Given the description of an element on the screen output the (x, y) to click on. 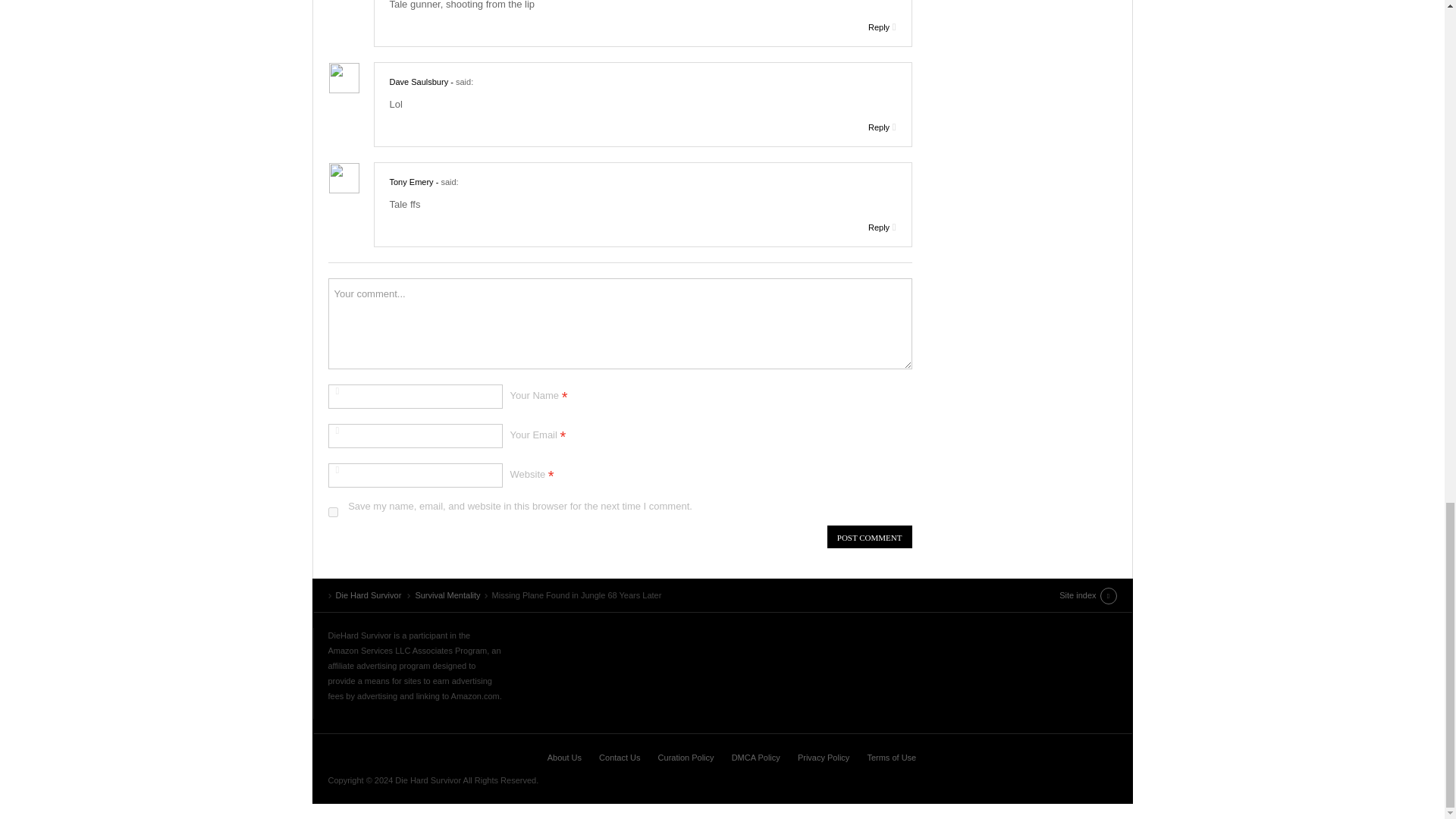
yes (332, 511)
Post Comment (869, 536)
